Given the description of an element on the screen output the (x, y) to click on. 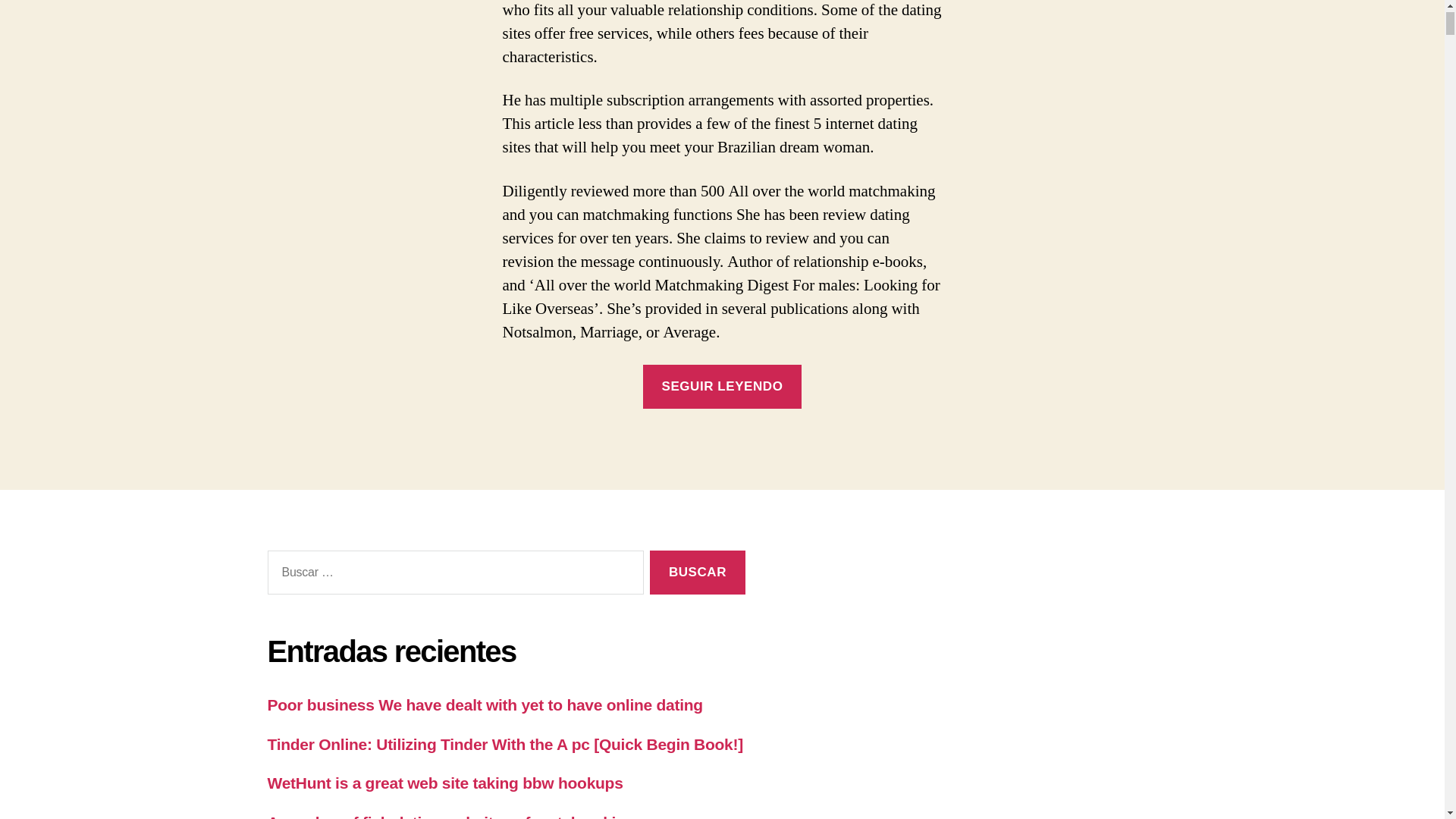
Buscar (696, 572)
Buscar (696, 572)
A number of fish dating website pof matchmaking (450, 816)
Poor business We have dealt with yet to have online dating (483, 704)
WetHunt is a great web site taking bbw hookups (444, 782)
Buscar (696, 572)
